Given the description of an element on the screen output the (x, y) to click on. 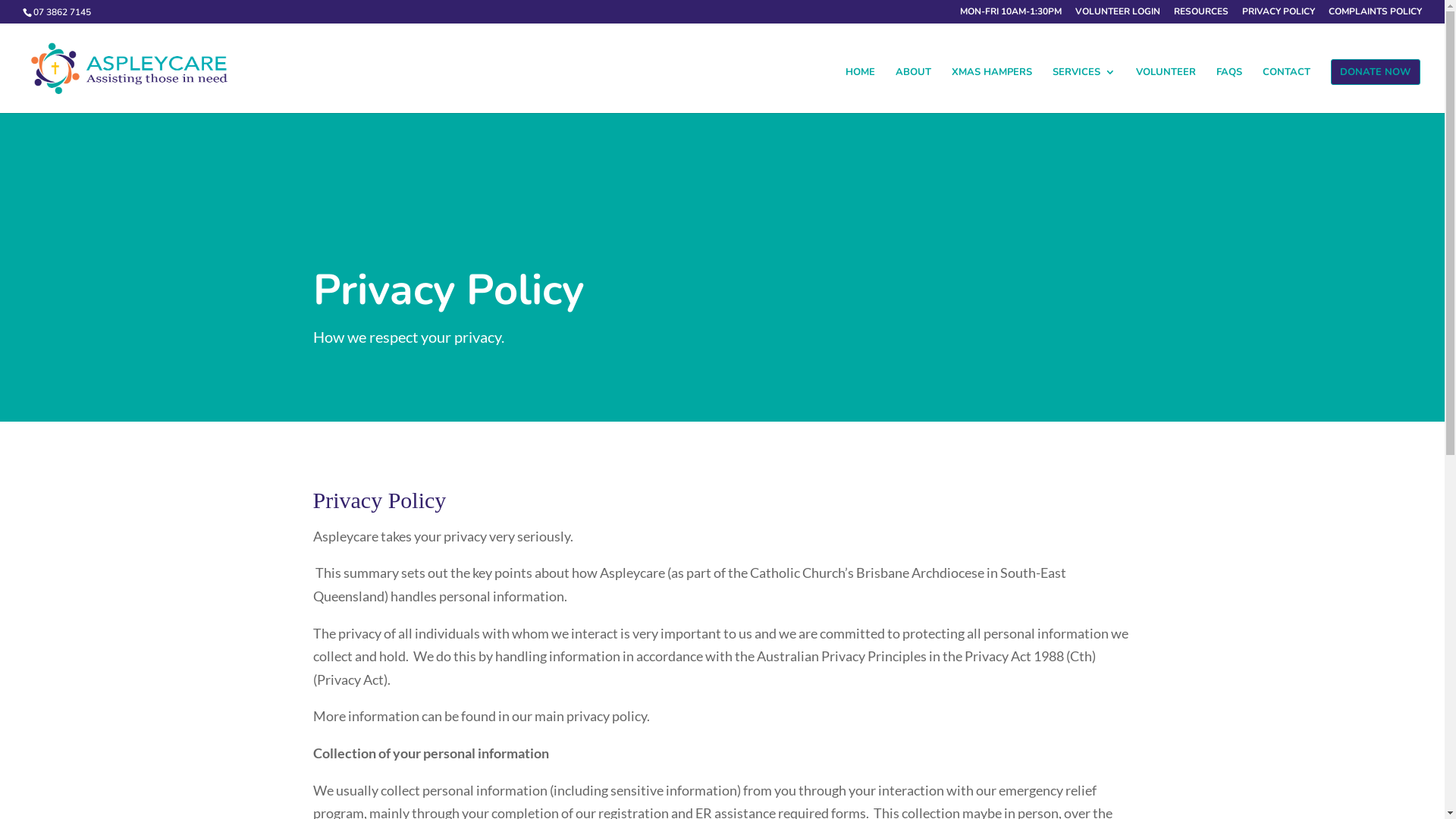
FAQS Element type: text (1229, 89)
MON-FRI 10AM-1:30PM Element type: text (1010, 14)
DONATE NOW Element type: text (1375, 71)
SERVICES Element type: text (1083, 89)
VOLUNTEER Element type: text (1165, 89)
CONTACT Element type: text (1286, 89)
XMAS HAMPERS Element type: text (991, 89)
COMPLAINTS POLICY Element type: text (1374, 14)
RESOURCES Element type: text (1200, 14)
PRIVACY POLICY Element type: text (1278, 14)
VOLUNTEER LOGIN Element type: text (1117, 14)
HOME Element type: text (860, 89)
ABOUT Element type: text (913, 89)
